Given the description of an element on the screen output the (x, y) to click on. 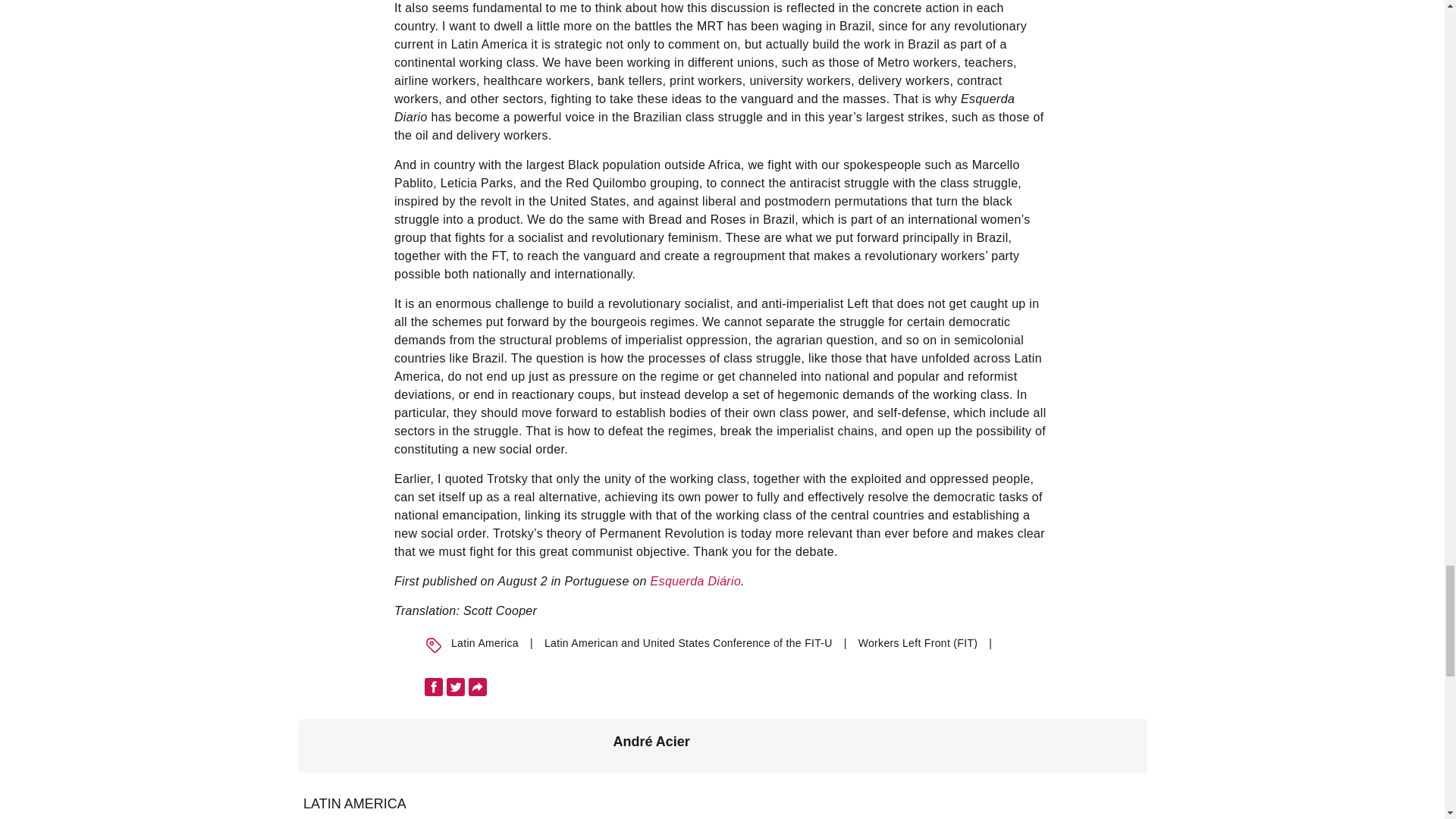
Latin American and United States Conference of the FIT-U (688, 643)
Latin America (484, 643)
